Given the description of an element on the screen output the (x, y) to click on. 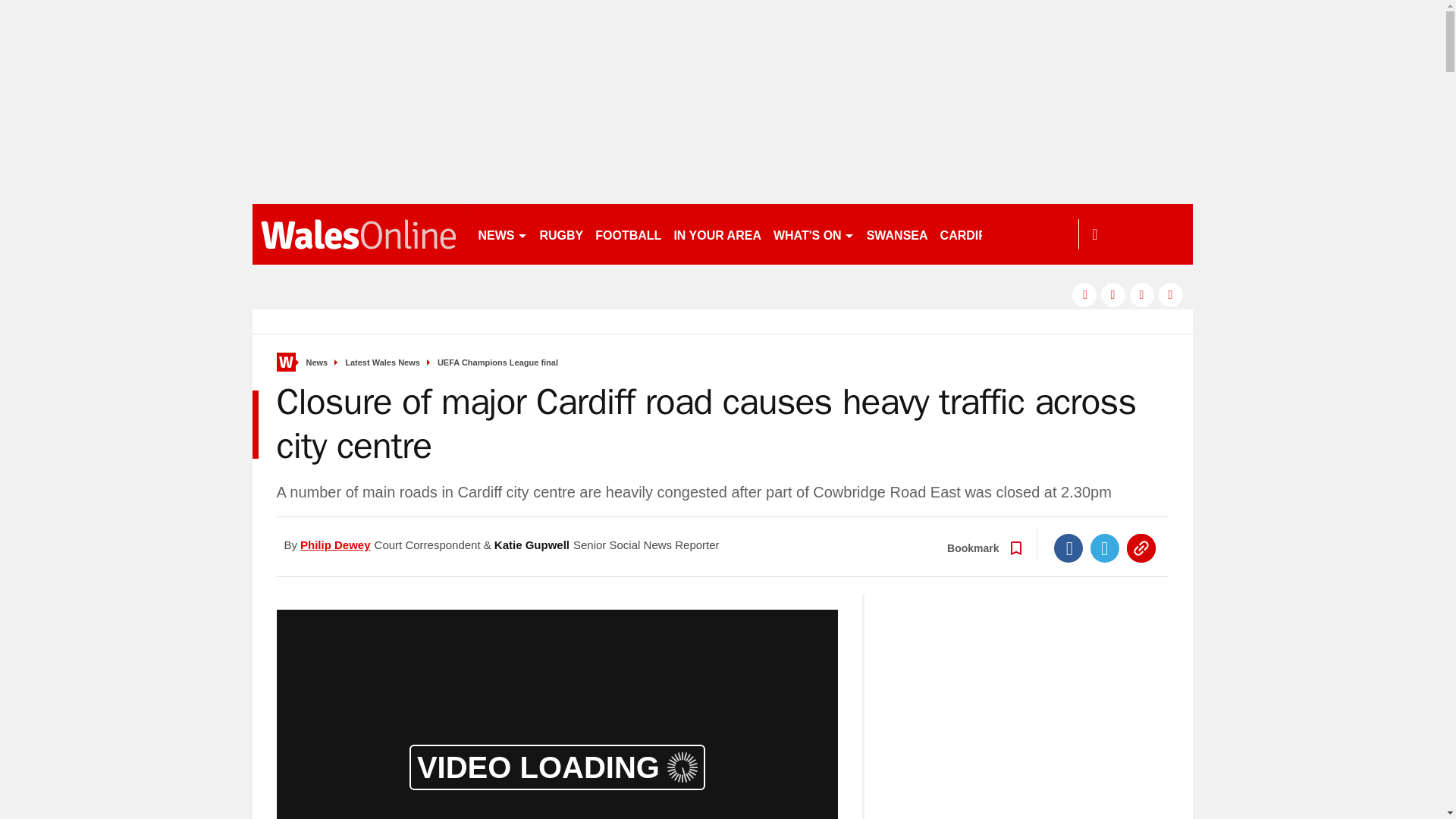
twitter (1112, 294)
NEWS (501, 233)
walesonline (357, 233)
WHAT'S ON (813, 233)
instagram (1170, 294)
SWANSEA (897, 233)
pinterest (1141, 294)
facebook (1083, 294)
FOOTBALL (627, 233)
RUGBY (561, 233)
Twitter (1104, 547)
Facebook (1068, 547)
IN YOUR AREA (716, 233)
